Given the description of an element on the screen output the (x, y) to click on. 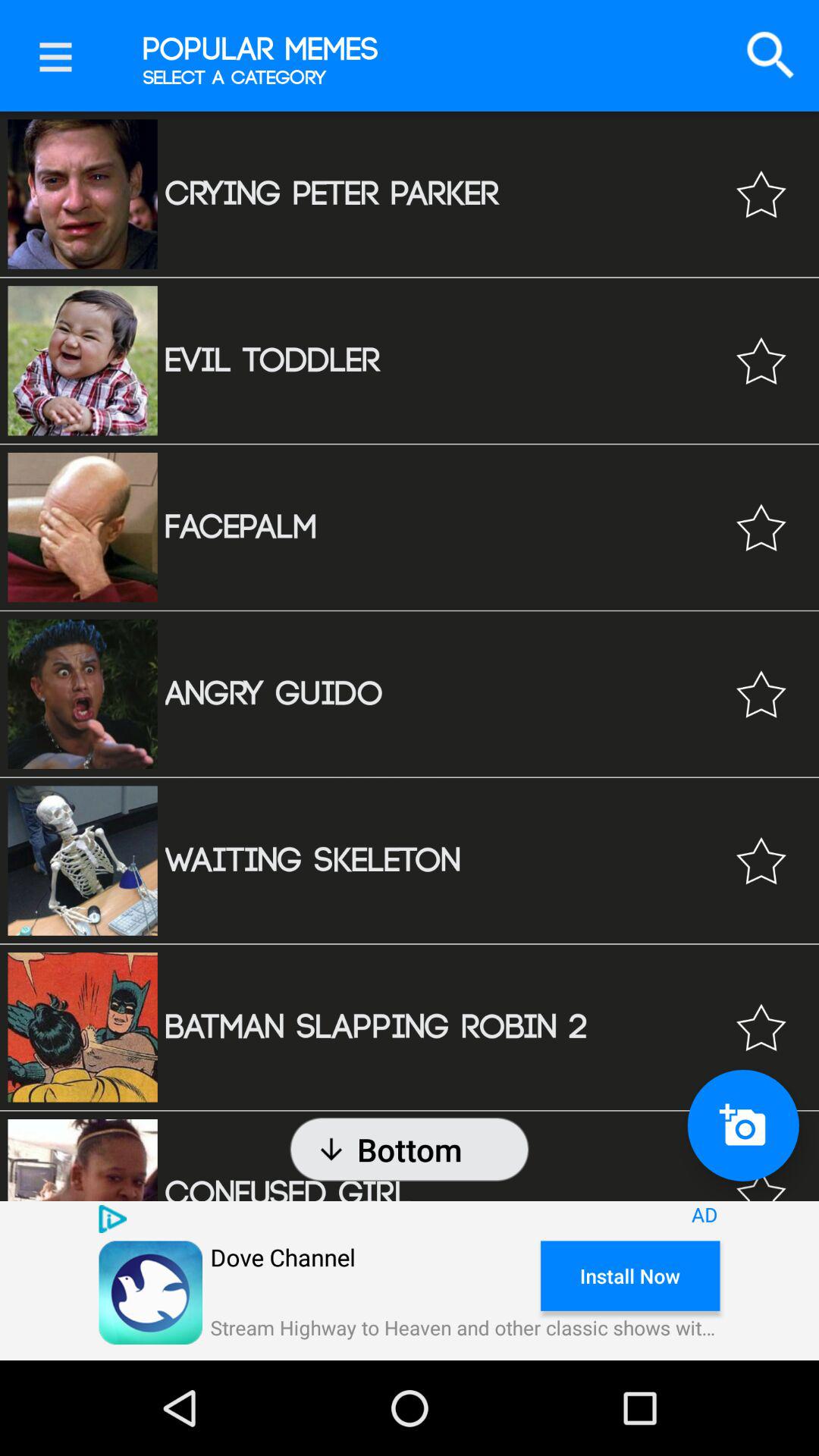
favorite (761, 860)
